Given the description of an element on the screen output the (x, y) to click on. 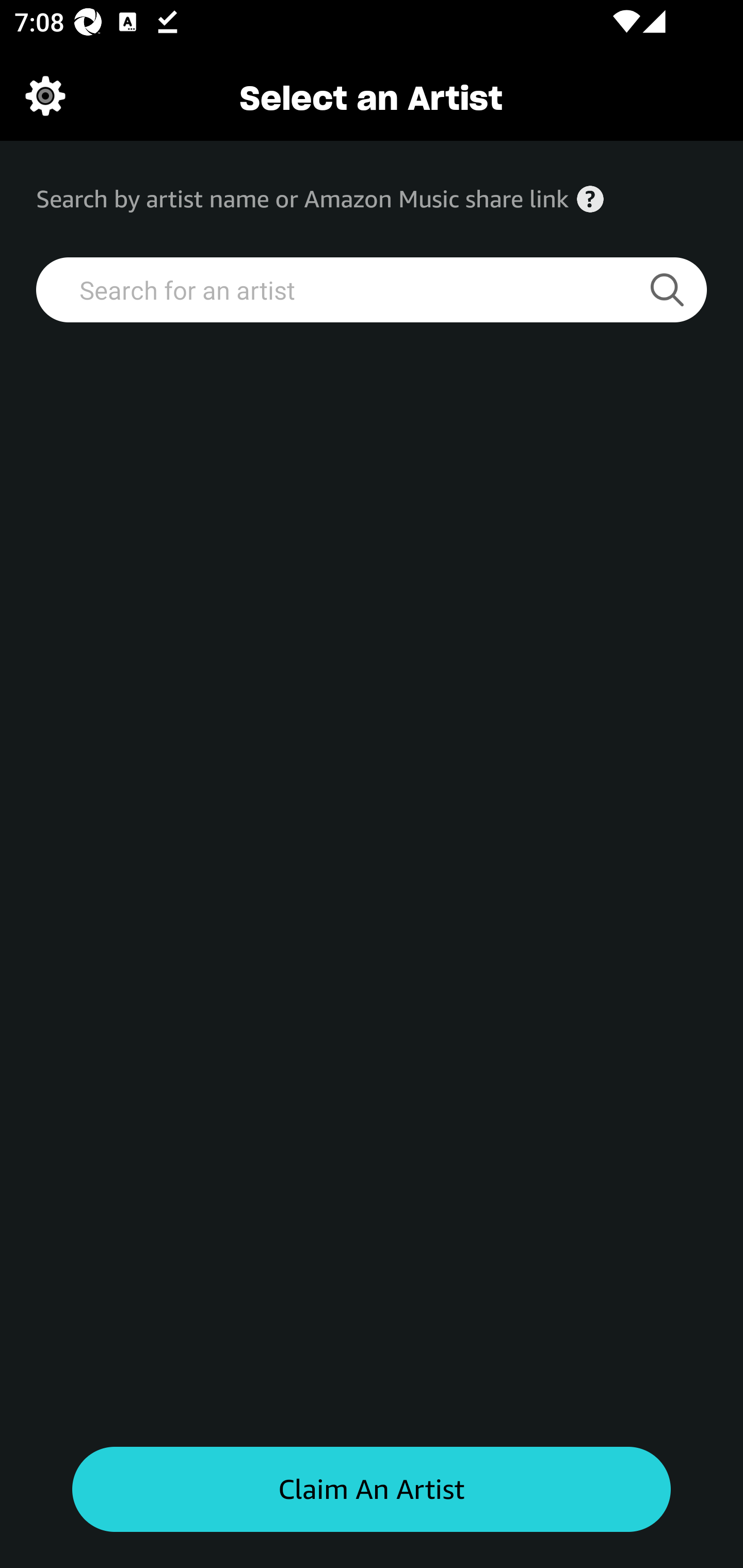
Help  icon (589, 199)
Claim an artist button Claim An Artist (371, 1489)
